Given the description of an element on the screen output the (x, y) to click on. 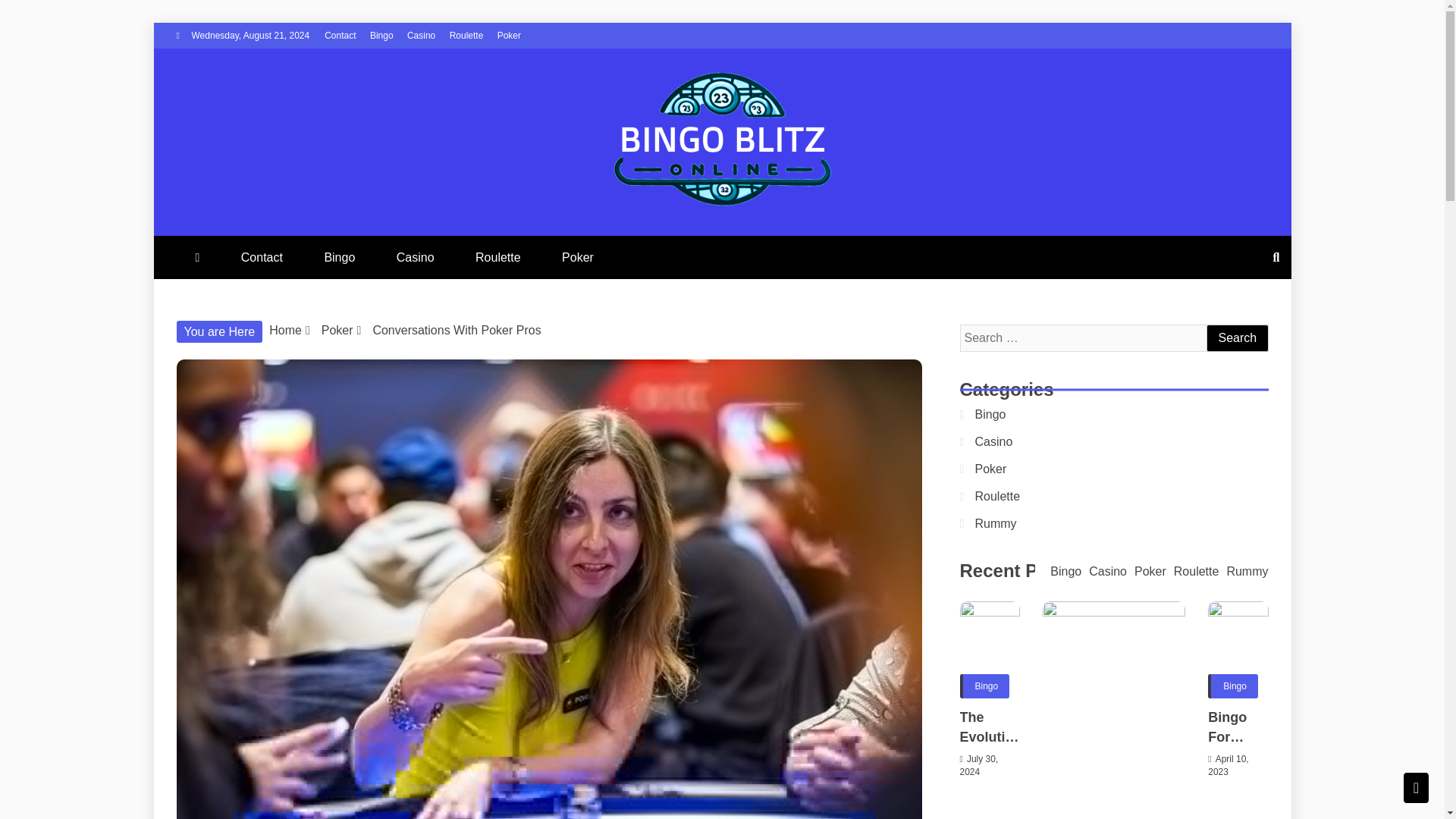
Search (1236, 338)
Poker (576, 257)
Roulette (497, 257)
Contact (261, 257)
Casino (415, 257)
Contact (339, 35)
Roulette (466, 35)
Poker (509, 35)
Casino (421, 35)
